Given the description of an element on the screen output the (x, y) to click on. 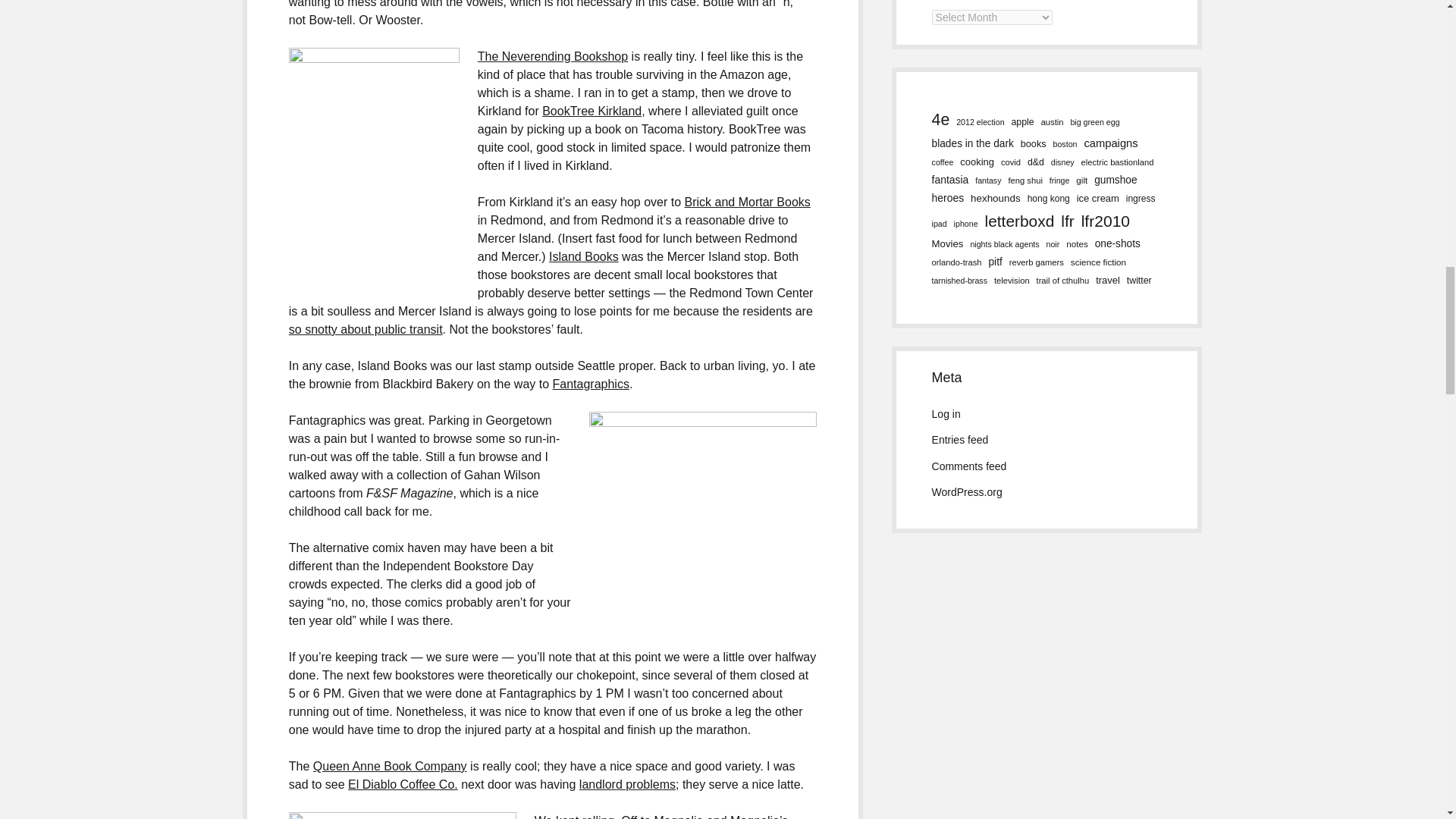
Island Books (583, 256)
The Neverending Bookshop (552, 56)
so snotty about public transit (365, 328)
El Diablo Coffee Co. (402, 784)
Queen Anne Book Company (390, 766)
landlord problems (627, 784)
Fantagraphics (590, 383)
BookTree Kirkland (591, 110)
Brick and Mortar Books (747, 201)
